Given the description of an element on the screen output the (x, y) to click on. 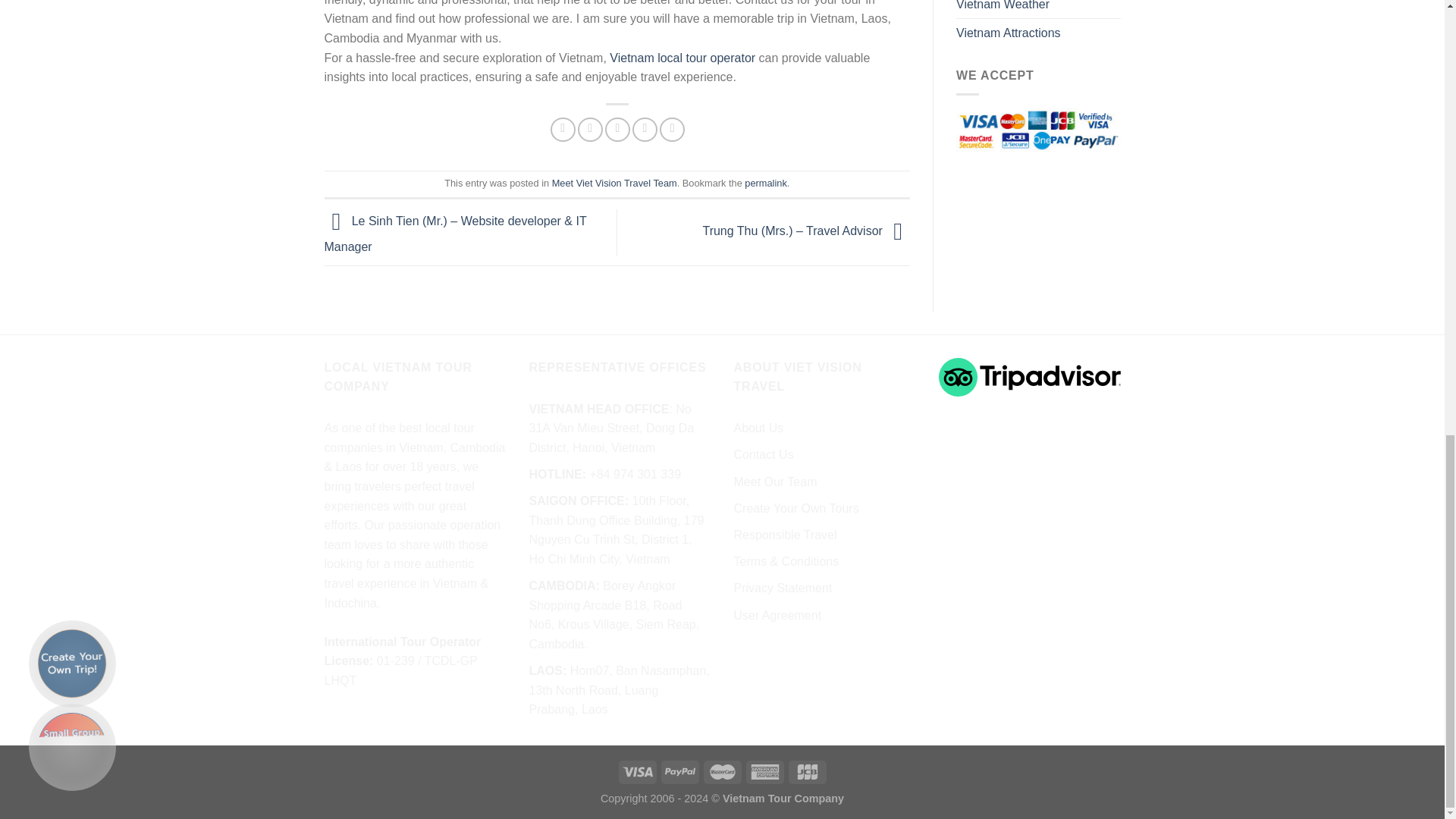
Share on LinkedIn (671, 129)
Pin on Pinterest (644, 129)
Share on Facebook (562, 129)
Email to a Friend (617, 129)
Share on Twitter (590, 129)
